Given the description of an element on the screen output the (x, y) to click on. 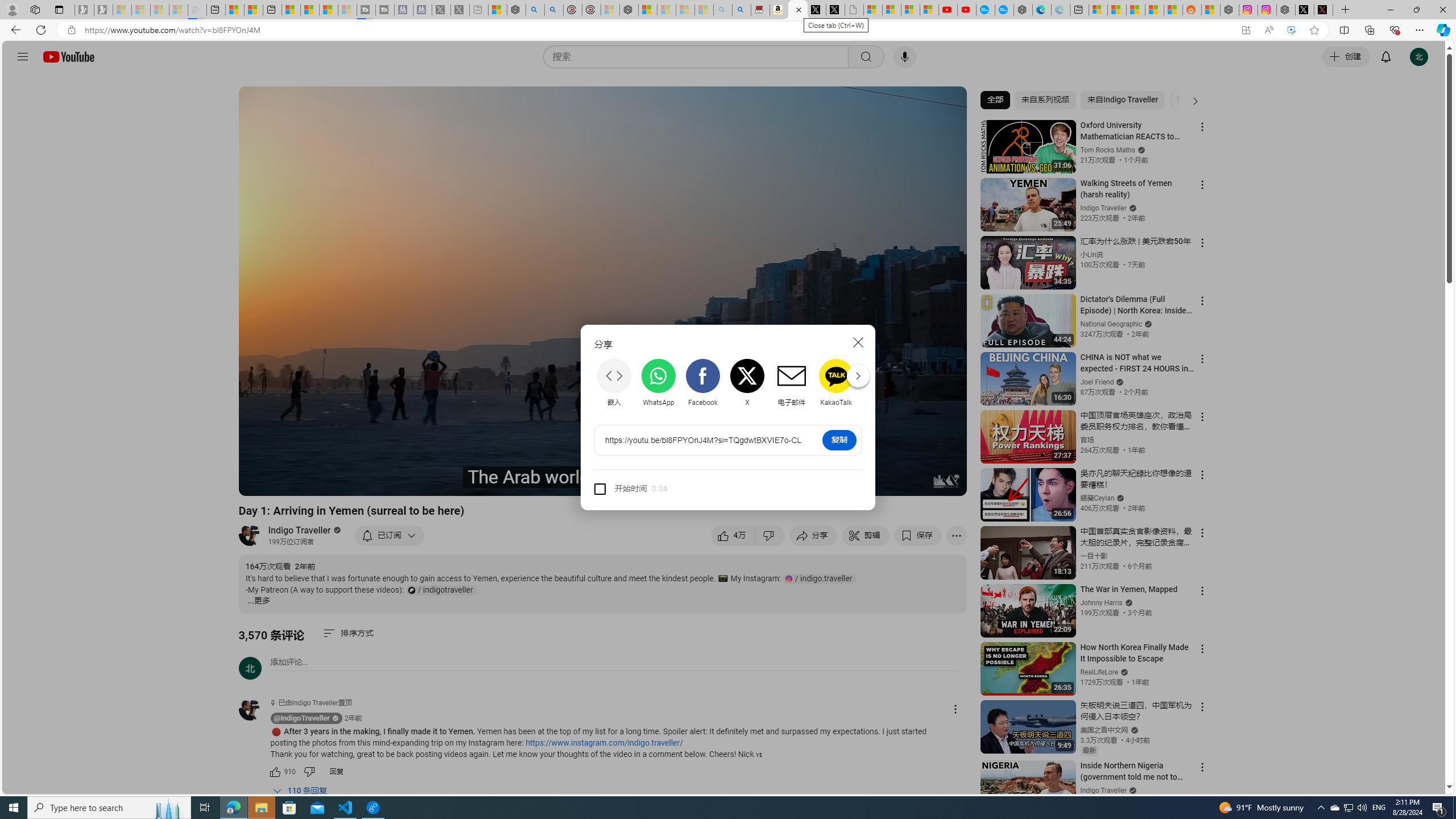
Newsletter Sign Up - Sleeping (102, 9)
App available. Install YouTube (1245, 29)
@IndigoTraveller (254, 709)
Instagram Channel Link: indigo.traveller (819, 578)
Nordace - Nordace Siena Is Not An Ordinary Backpack (628, 9)
